Given the description of an element on the screen output the (x, y) to click on. 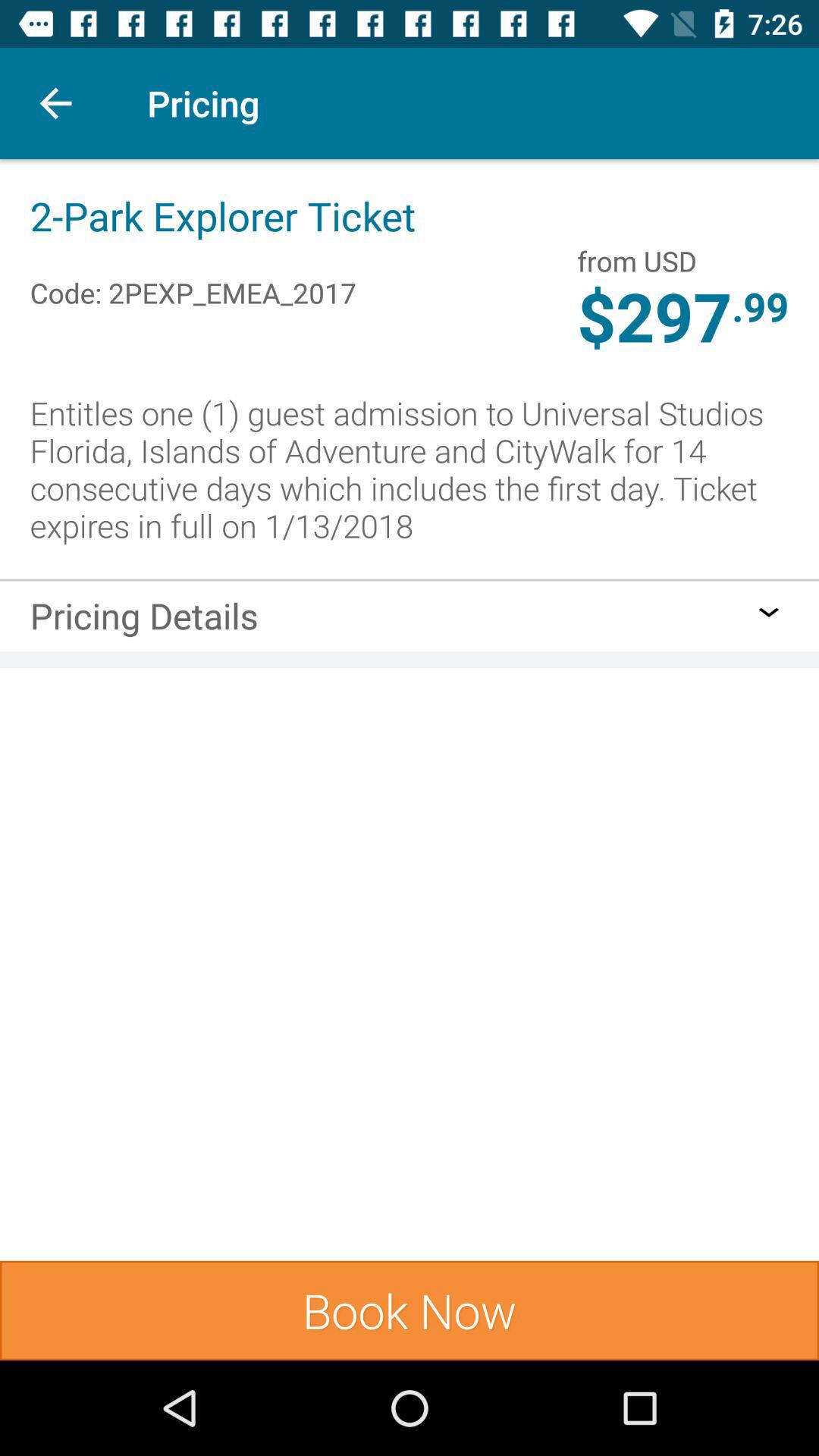
flip until entitles one 1 item (409, 468)
